Given the description of an element on the screen output the (x, y) to click on. 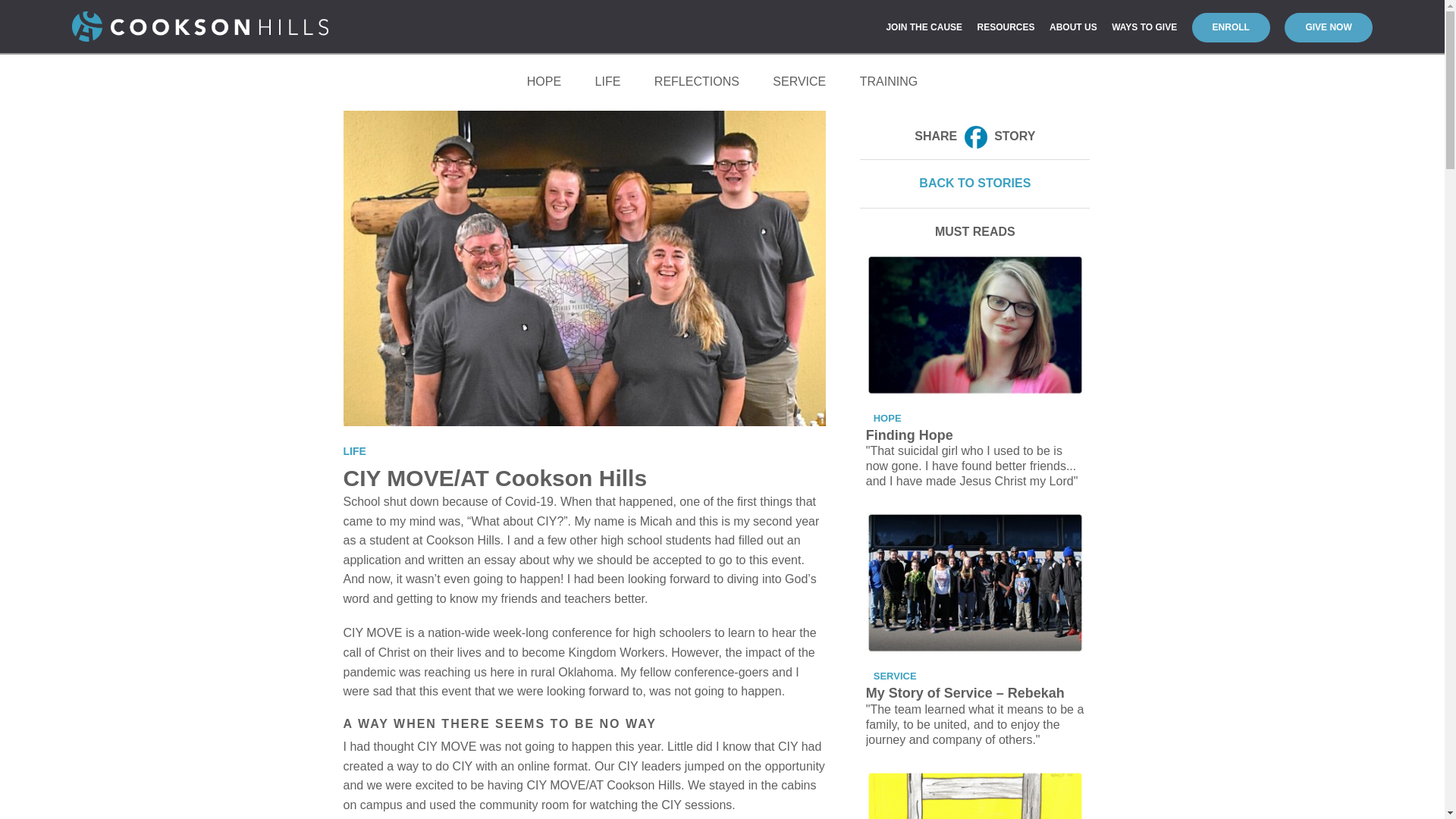
Hope (543, 81)
RESOURCES (1005, 27)
JOIN THE CAUSE (923, 27)
BACK TO STORIES (974, 183)
SERVICE (799, 81)
LIFE (608, 81)
HOPE (890, 418)
Training (888, 81)
Life is Like a Ladder (975, 794)
Finding Hope (975, 324)
